Given the description of an element on the screen output the (x, y) to click on. 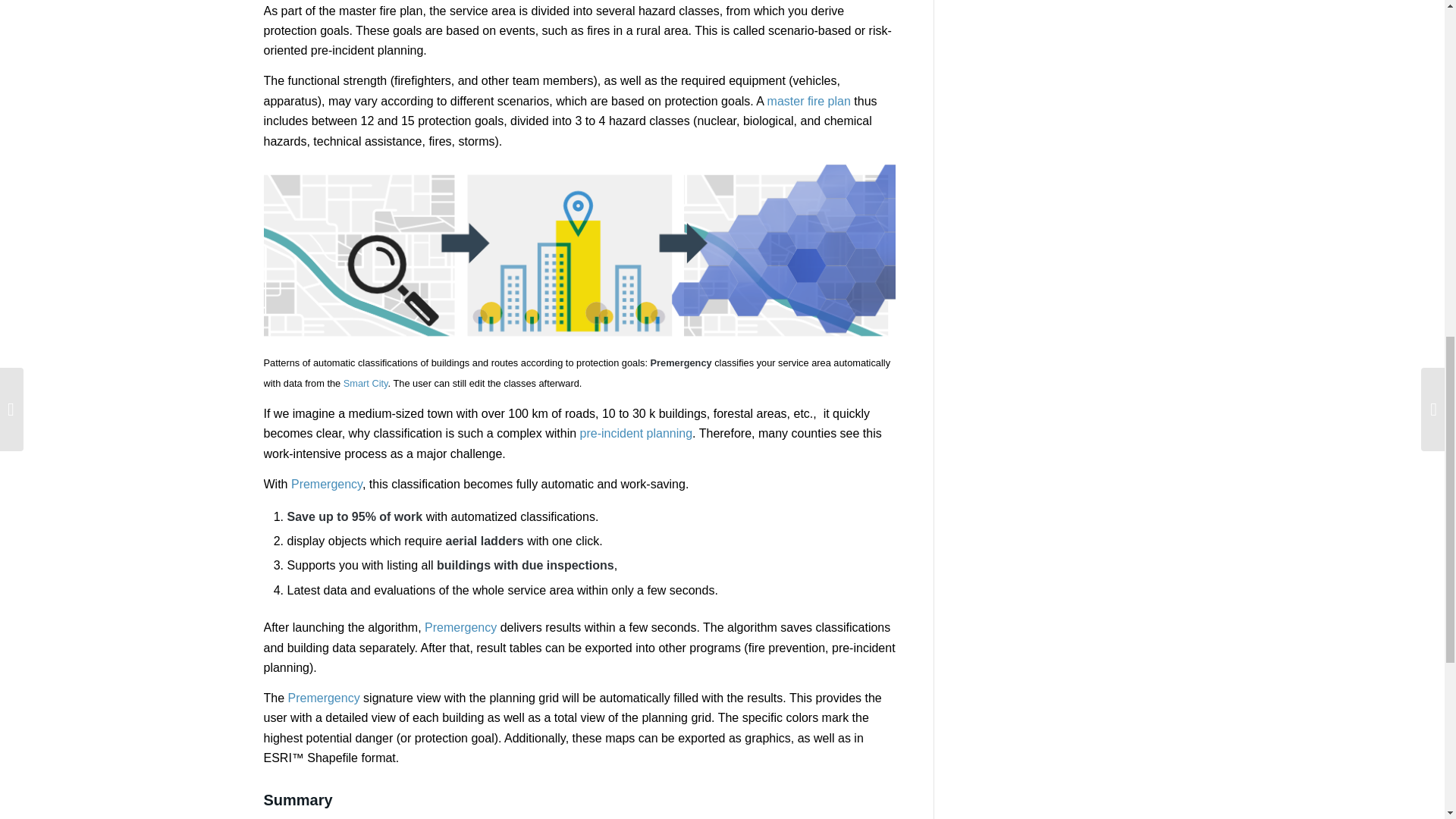
pre-incident planning (636, 432)
Premergency (460, 626)
Premergency (323, 697)
Smart City (365, 383)
master fire plan (808, 101)
Premergency (326, 483)
